Given the description of an element on the screen output the (x, y) to click on. 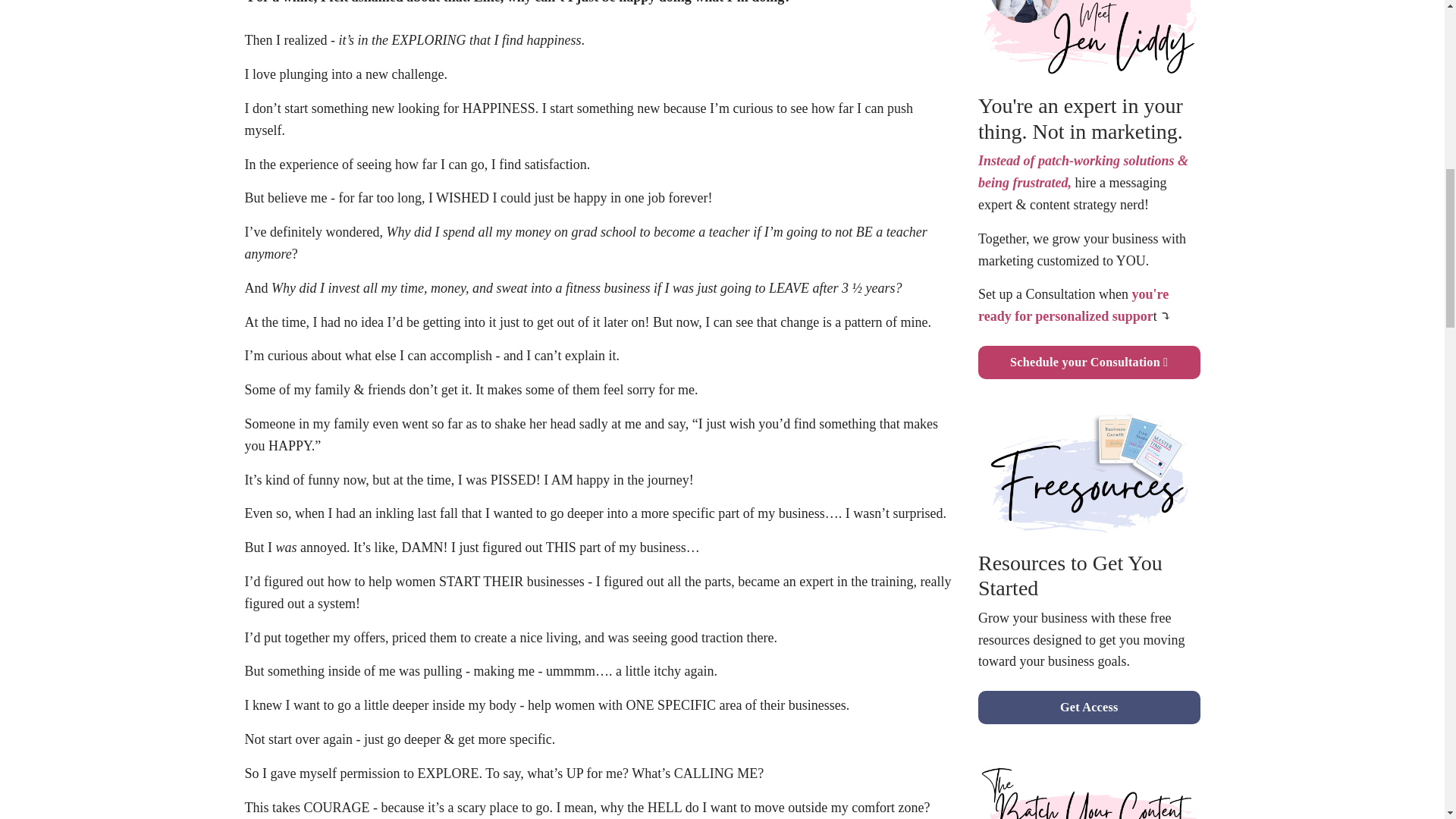
Get Access (1088, 707)
